Given the description of an element on the screen output the (x, y) to click on. 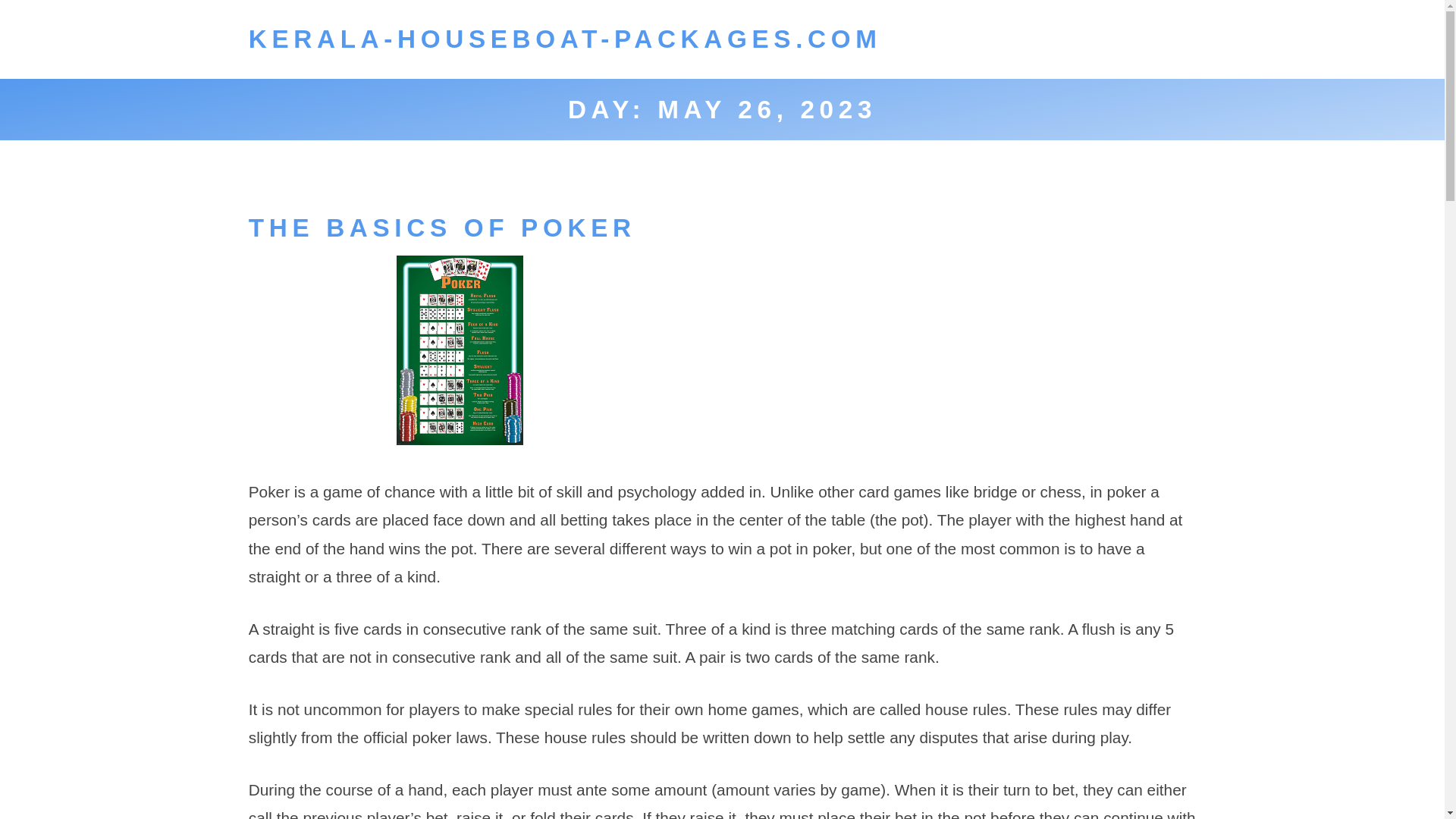
THE BASICS OF POKER (442, 227)
KERALA-HOUSEBOAT-PACKAGES.COM (565, 39)
